Given the description of an element on the screen output the (x, y) to click on. 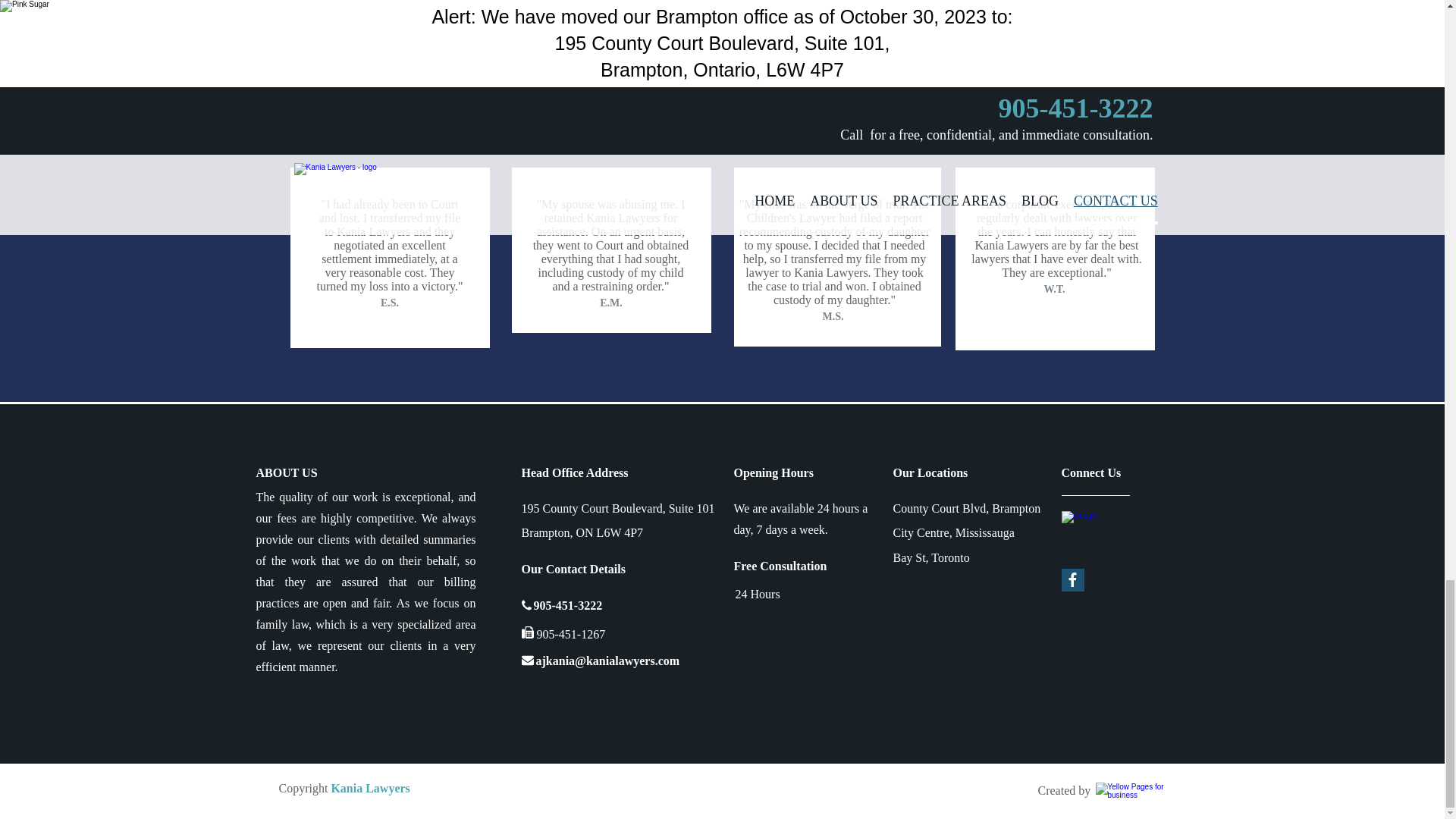
Kania Lawyers (369, 789)
905-451-3222 (568, 605)
